Given the description of an element on the screen output the (x, y) to click on. 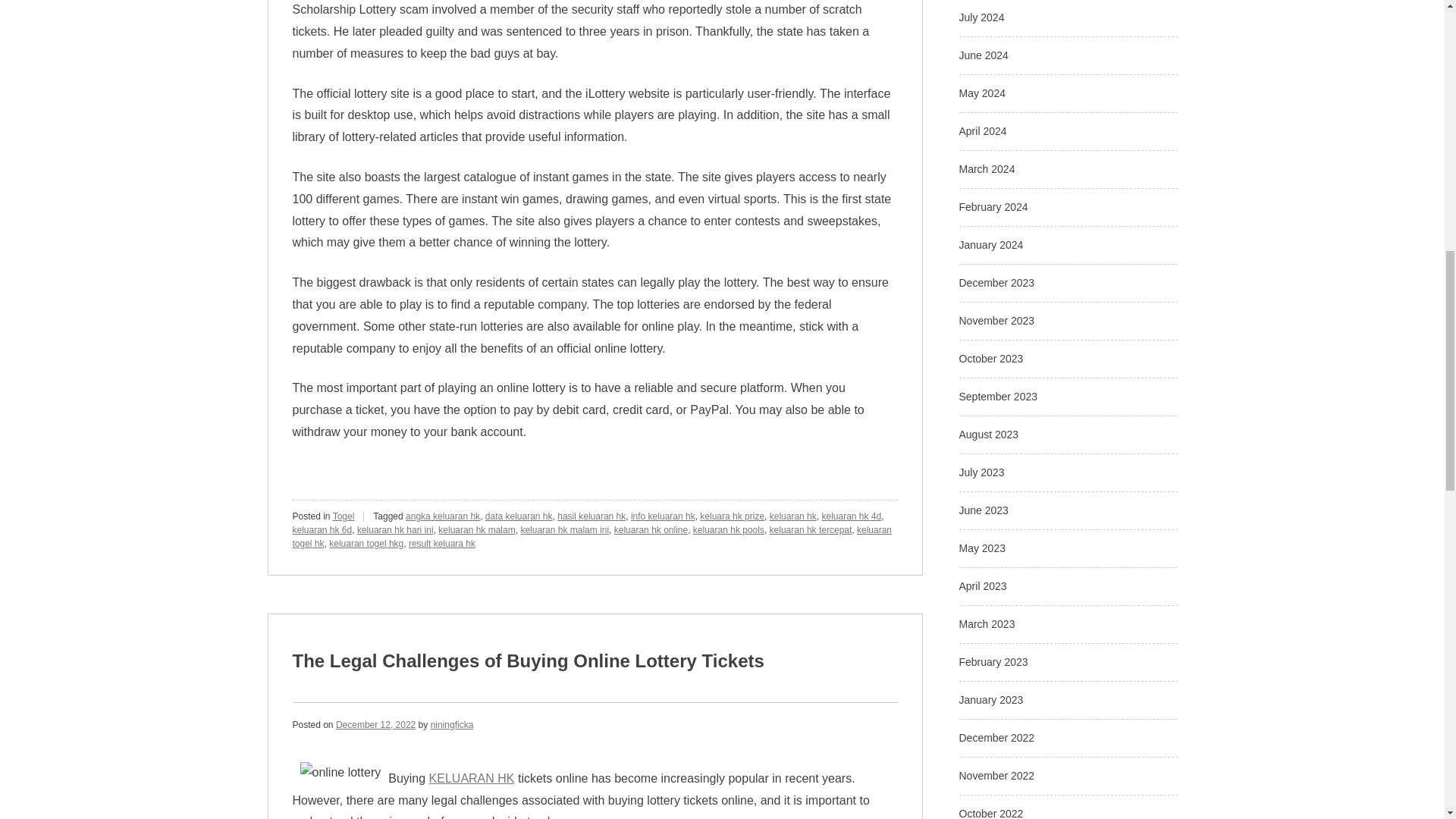
KELUARAN HK (472, 778)
keluaran hk (793, 516)
angka keluaran hk (443, 516)
data keluaran hk (518, 516)
keluaran hk tercepat (810, 529)
keluaran hk pools (728, 529)
hasil keluaran hk (591, 516)
keluaran hk hari ini (394, 529)
December 12, 2022 (375, 724)
niningficka (452, 724)
keluaran hk online (650, 529)
keluaran hk malam ini (563, 529)
keluaran togel hkg (366, 543)
keluara hk prize (732, 516)
keluaran togel hk (592, 536)
